Given the description of an element on the screen output the (x, y) to click on. 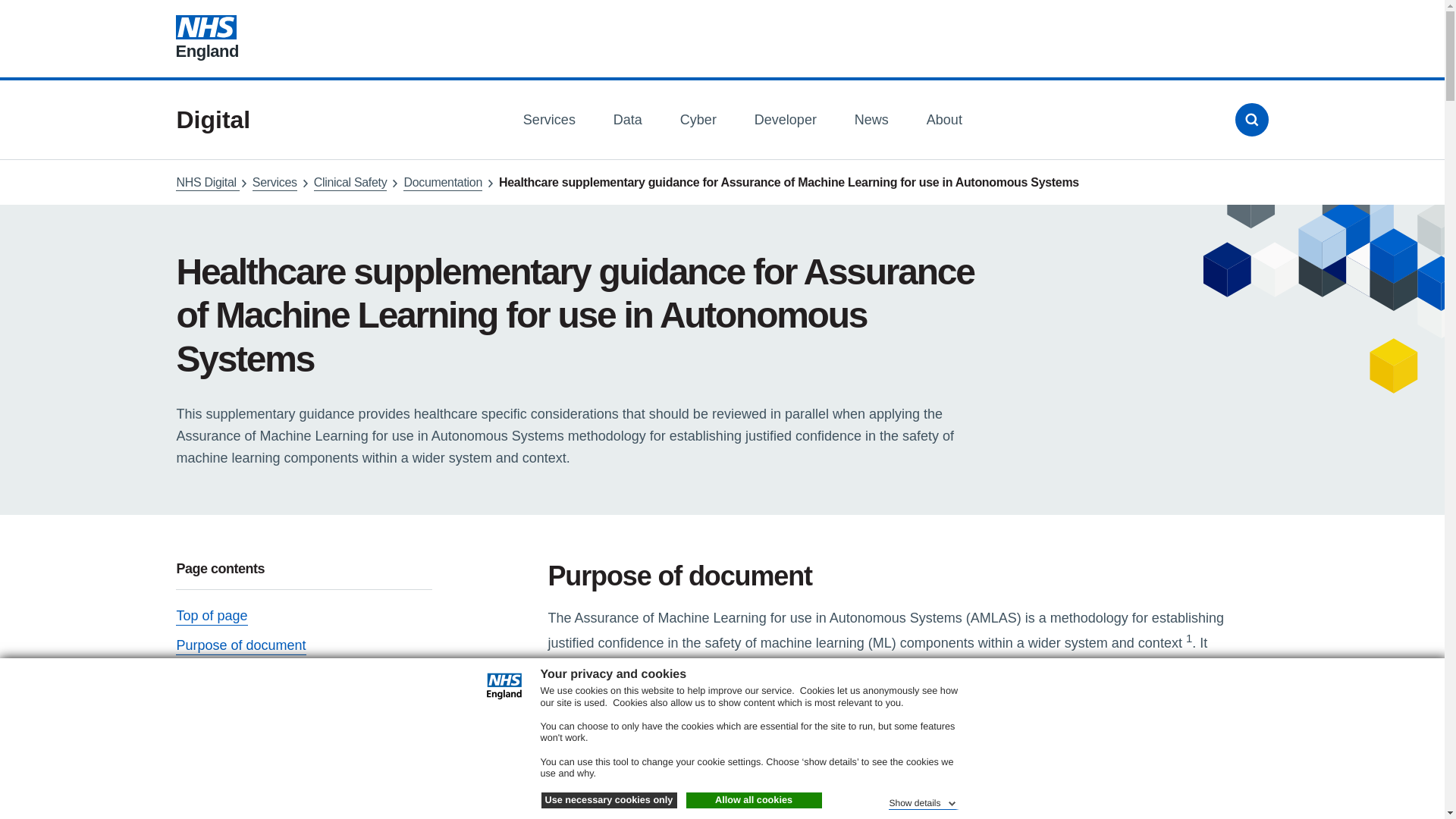
Show details (923, 800)
Use necessary cookies only (609, 800)
Allow all cookies (753, 800)
